Given the description of an element on the screen output the (x, y) to click on. 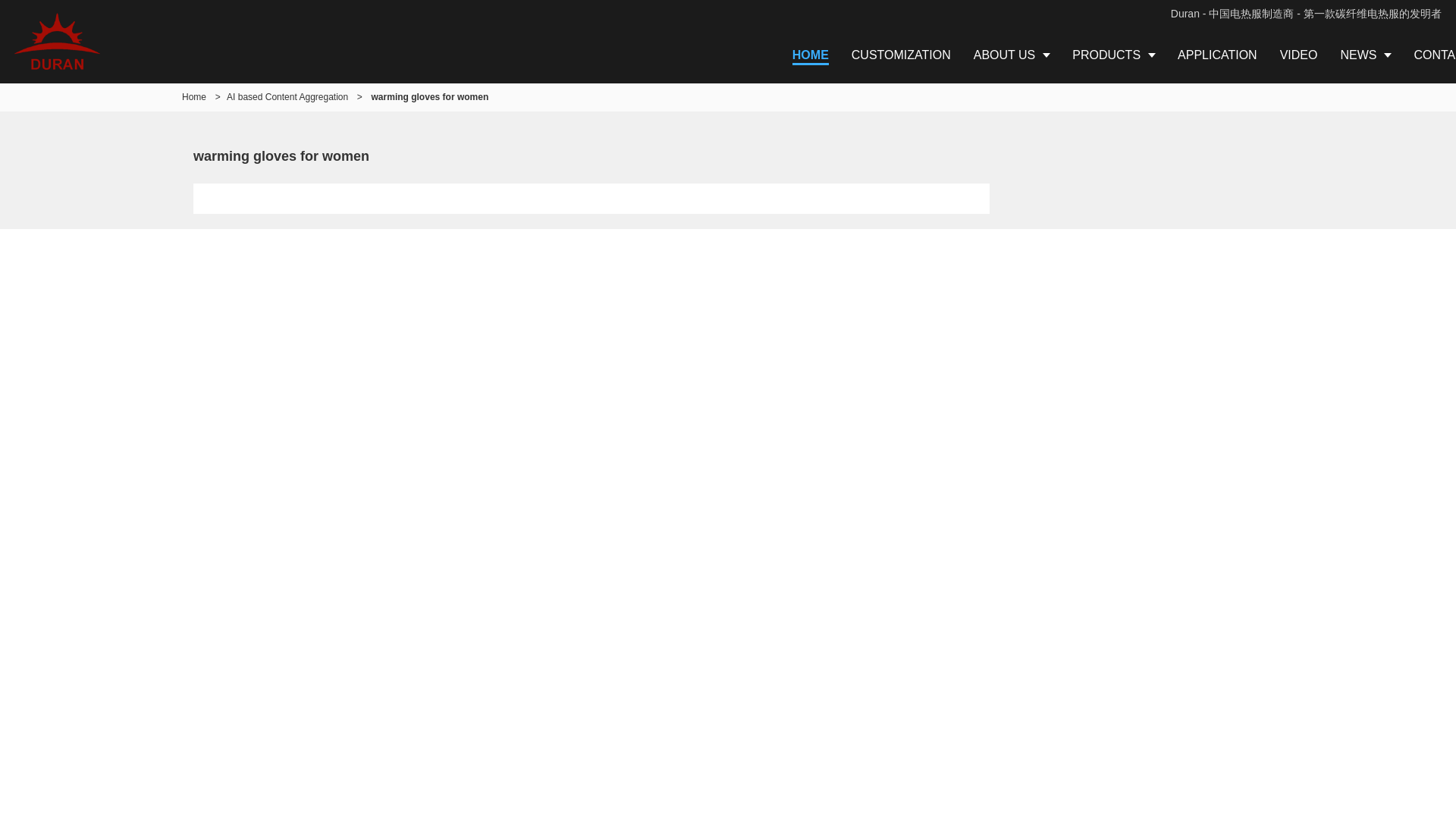
AI based Content Aggregation (287, 96)
ABOUT US (1011, 55)
Home (194, 96)
NEWS (1364, 55)
HOME (810, 55)
VIDEO (1298, 55)
APPLICATION (1217, 55)
CUSTOMIZATION (901, 55)
PRODUCTS (1113, 55)
